Given the description of an element on the screen output the (x, y) to click on. 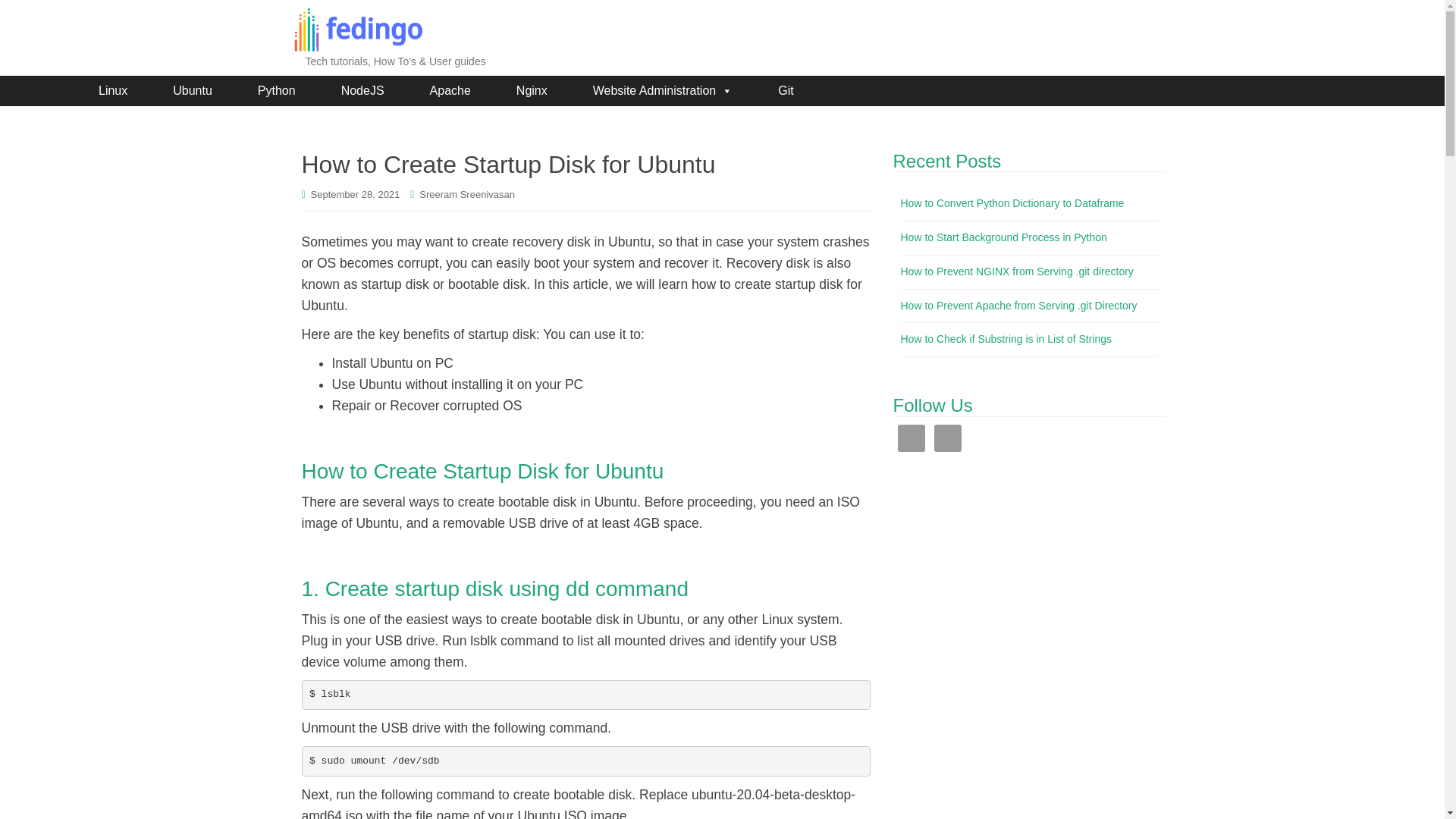
How to Start Background Process in Python (1003, 236)
Apache (450, 91)
Ubuntu (191, 91)
Website Administration (662, 91)
Nginx (531, 91)
How to Convert Python Dictionary to Dataframe (1012, 203)
September 28, 2021 (355, 194)
Sreeram Sreenivasan (467, 194)
Linux (112, 91)
Python (276, 91)
Git (785, 91)
NodeJS (362, 91)
